Given the description of an element on the screen output the (x, y) to click on. 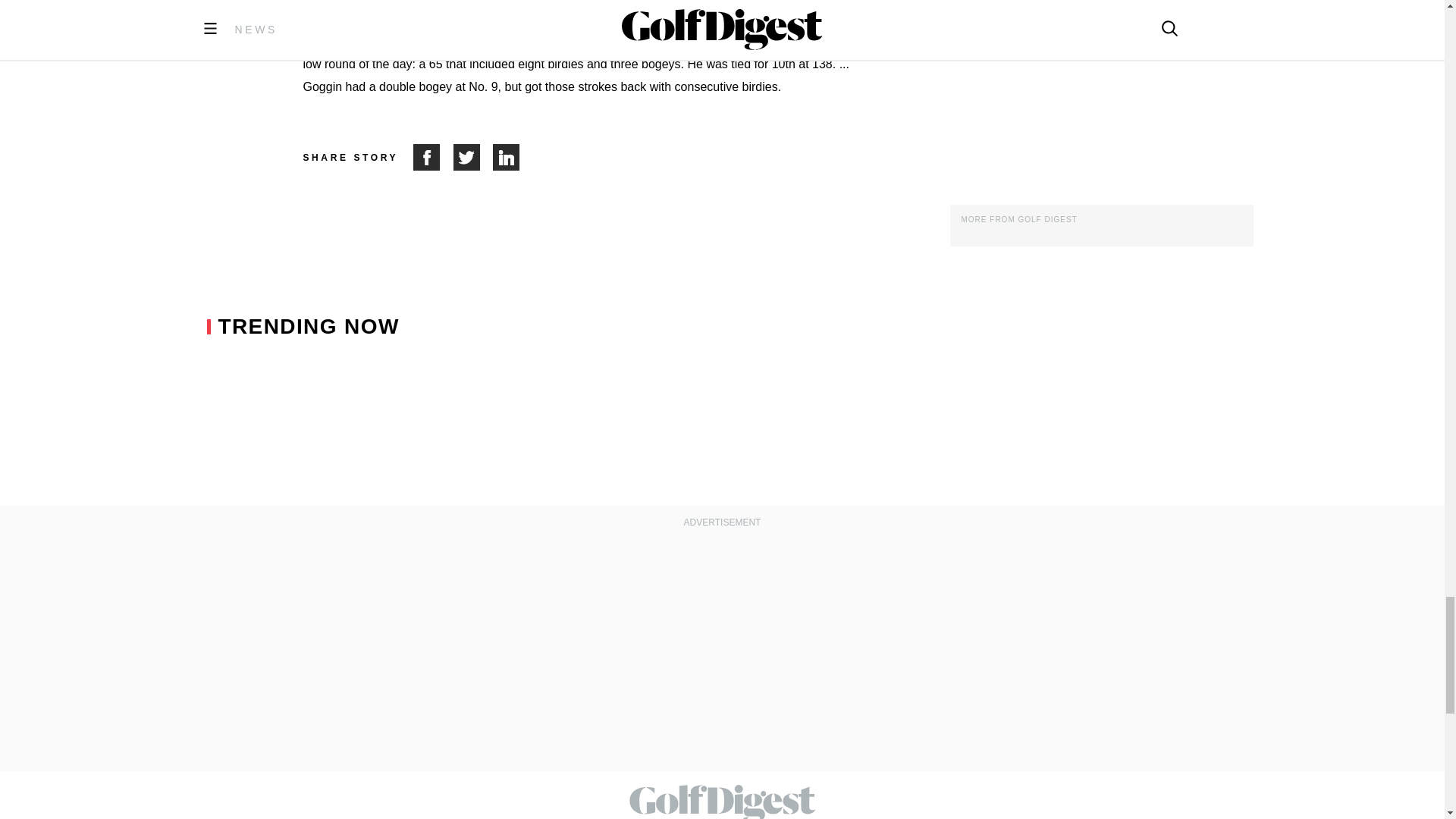
Share on Facebook (432, 157)
Share on Twitter (472, 157)
Share on LinkedIn (506, 157)
